Given the description of an element on the screen output the (x, y) to click on. 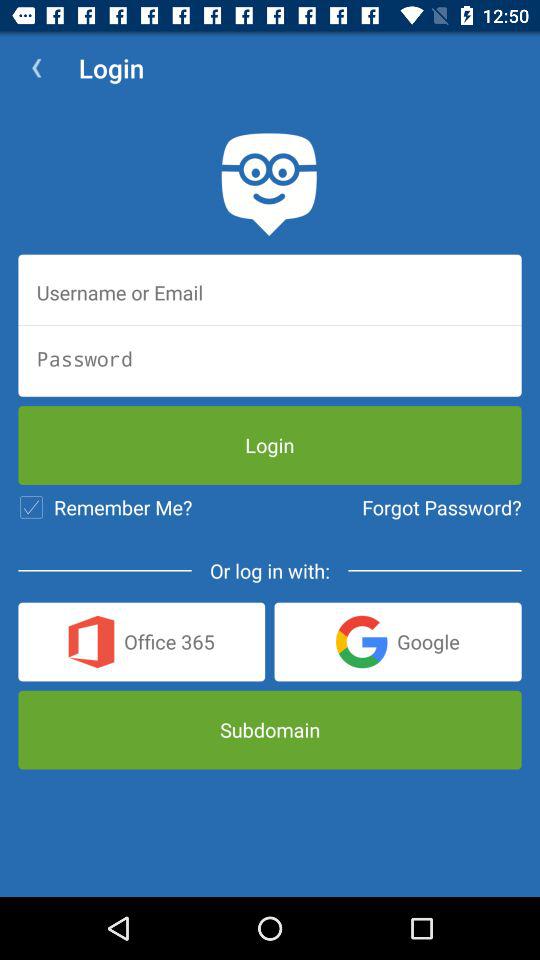
enter username (269, 292)
